Given the description of an element on the screen output the (x, y) to click on. 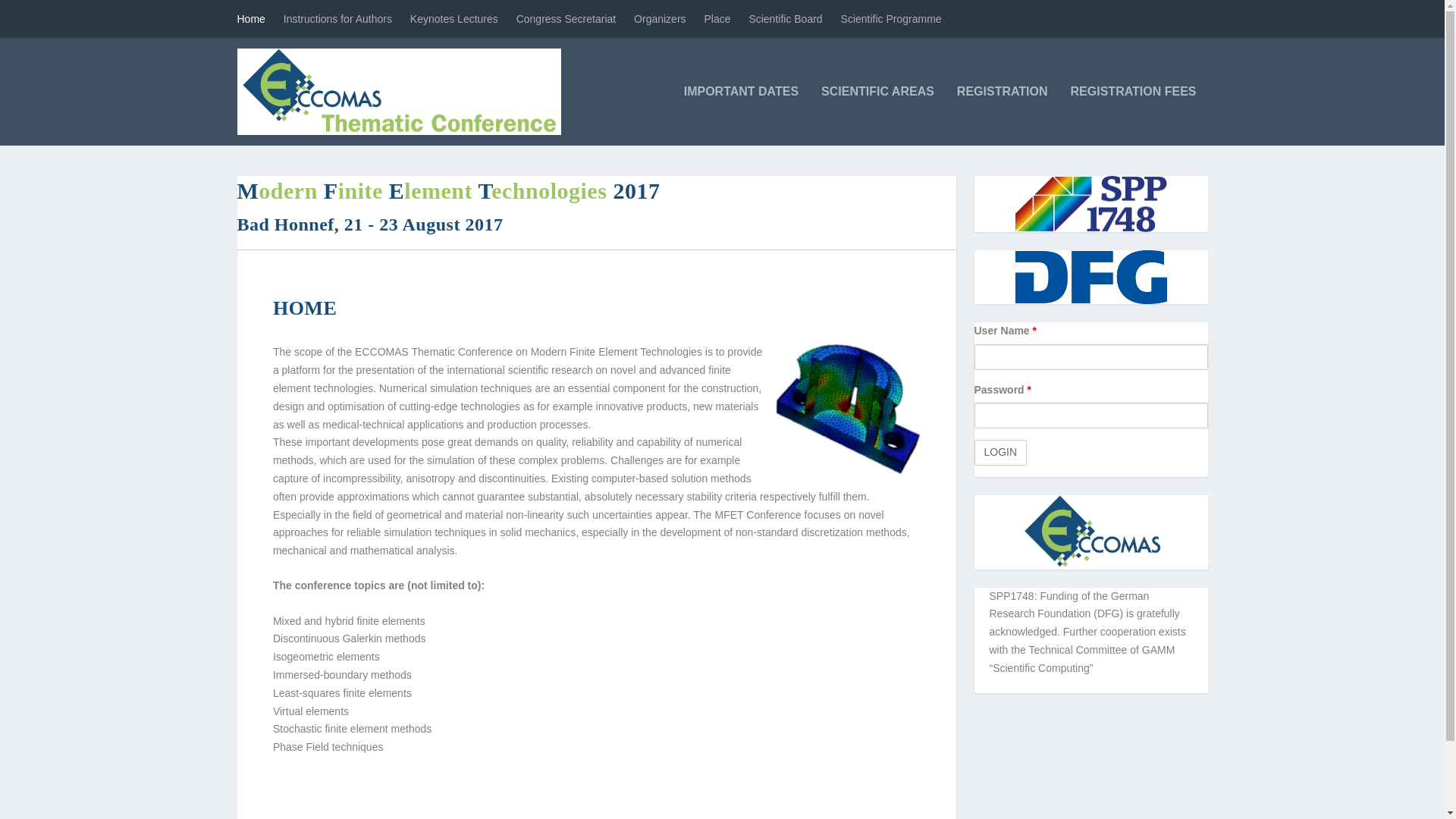
IMPORTANT DATES (740, 115)
REGISTRATION (1002, 115)
Login (1000, 452)
Keynotes Lectures (453, 18)
Scientific Board (785, 18)
Login (1000, 452)
Congress Secretariat (565, 18)
DFG (1090, 276)
SCIENTIFIC AREAS (877, 115)
REGISTRATION FEES (1133, 115)
